Given the description of an element on the screen output the (x, y) to click on. 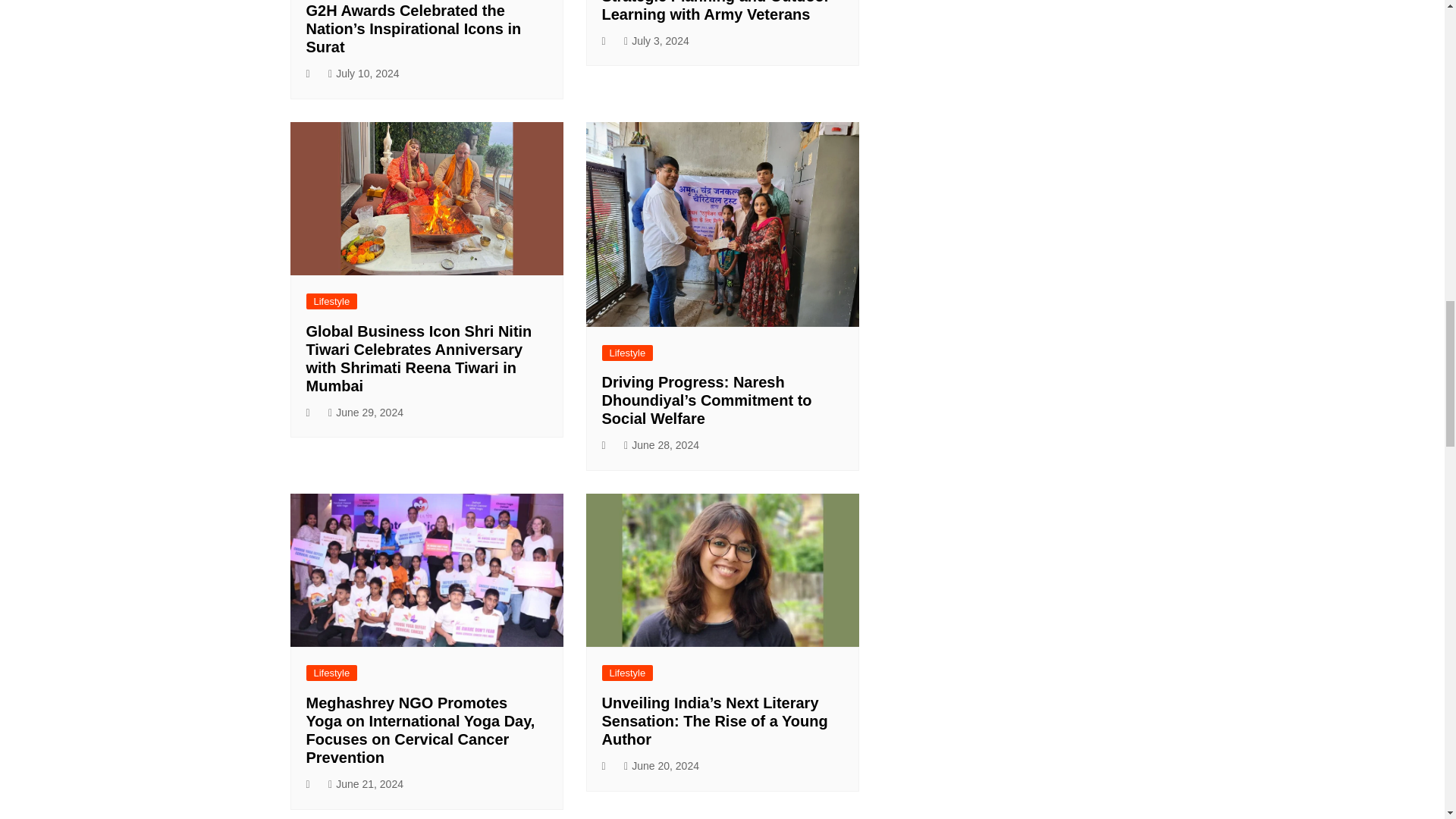
Lifestyle (627, 352)
June 29, 2024 (366, 412)
July 3, 2024 (656, 40)
July 10, 2024 (363, 73)
Lifestyle (331, 301)
